Given the description of an element on the screen output the (x, y) to click on. 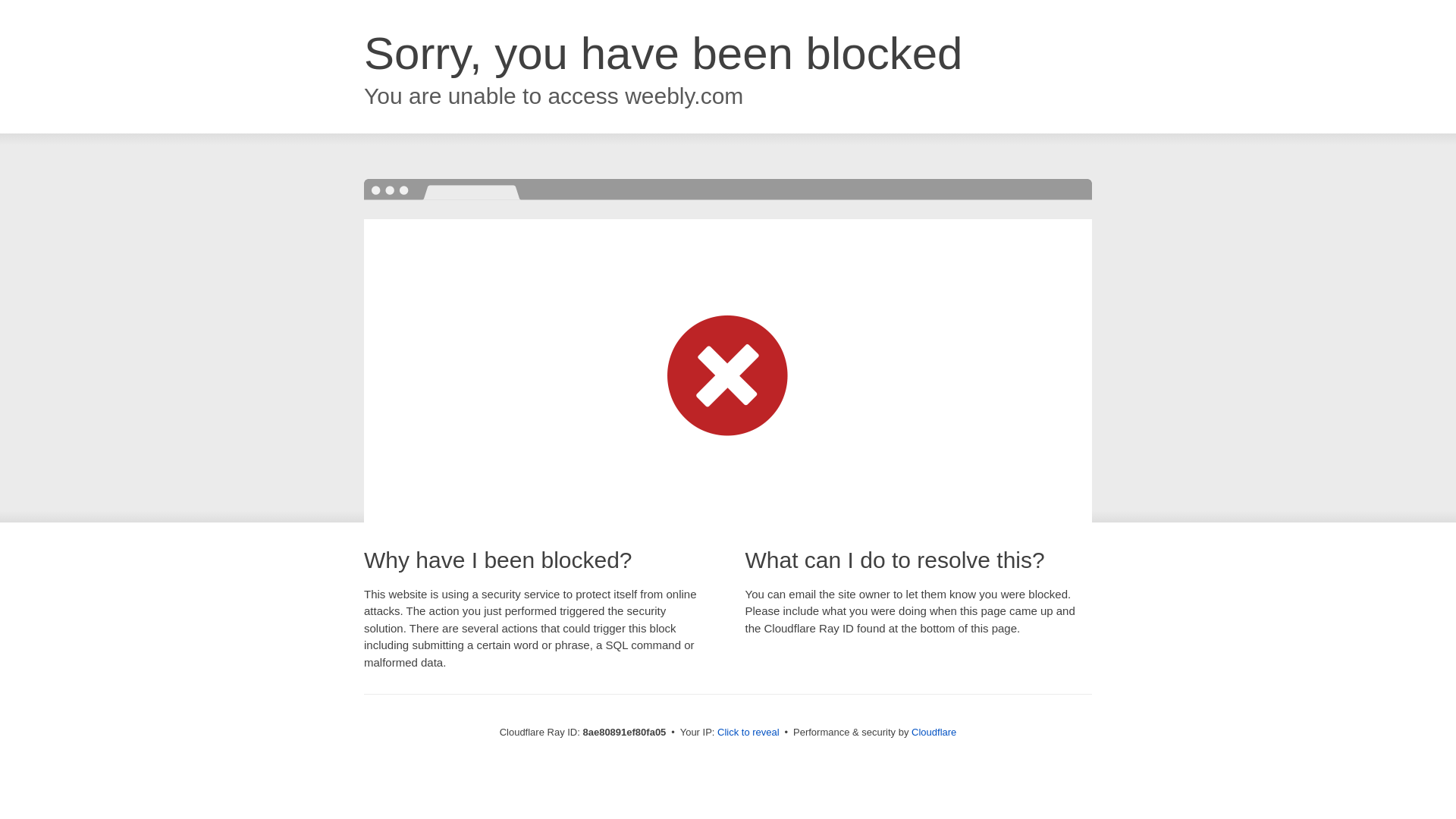
Cloudflare (933, 731)
Click to reveal (747, 732)
